Given the description of an element on the screen output the (x, y) to click on. 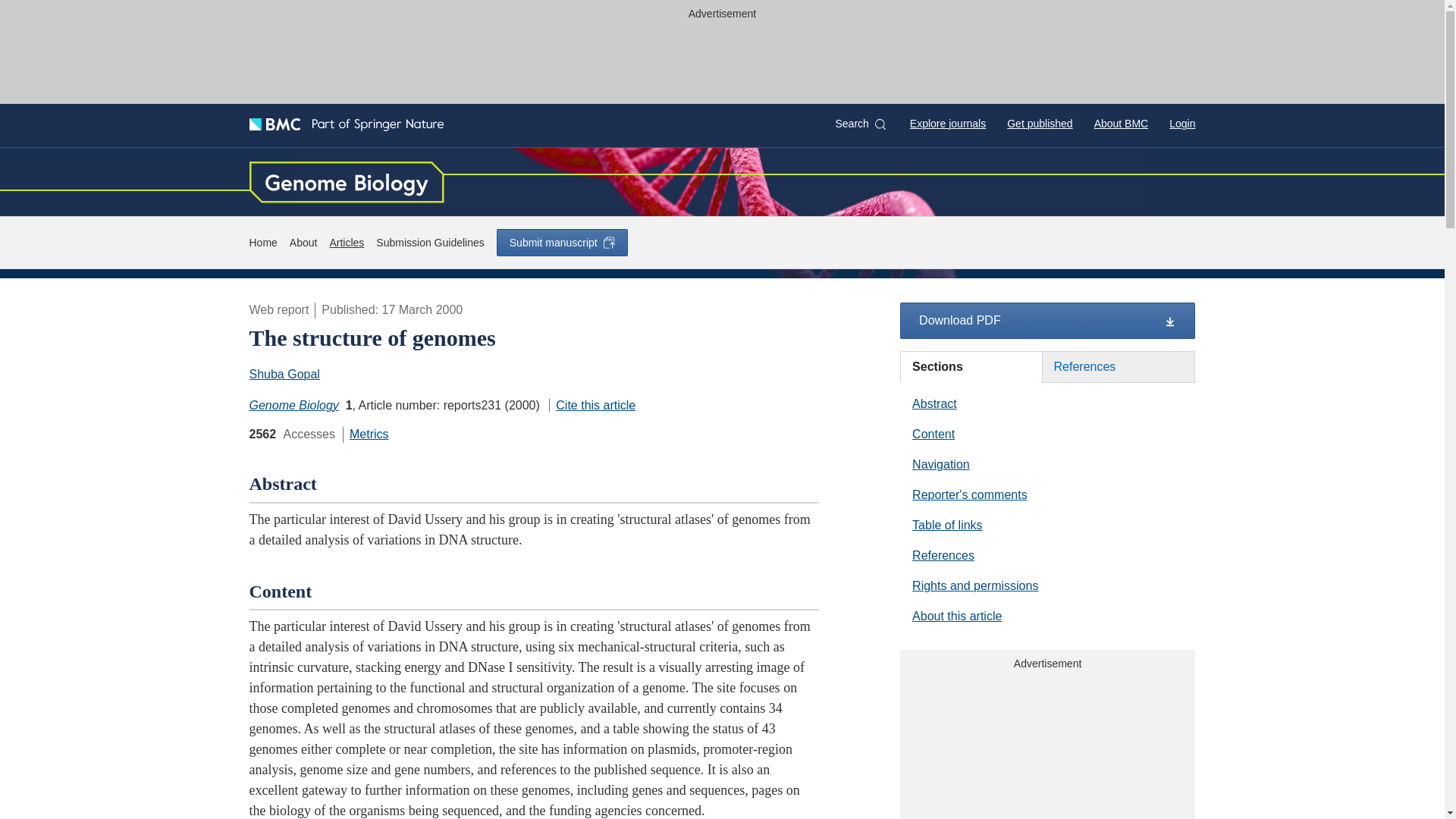
Search (859, 123)
Login (1182, 123)
Cite this article (591, 404)
Genome Biology (292, 404)
Shuba Gopal (283, 373)
Explore journals (947, 123)
Submission Guidelines (429, 242)
Home (262, 242)
Get published (1039, 123)
Shuba Gopal  (285, 373)
